Given the description of an element on the screen output the (x, y) to click on. 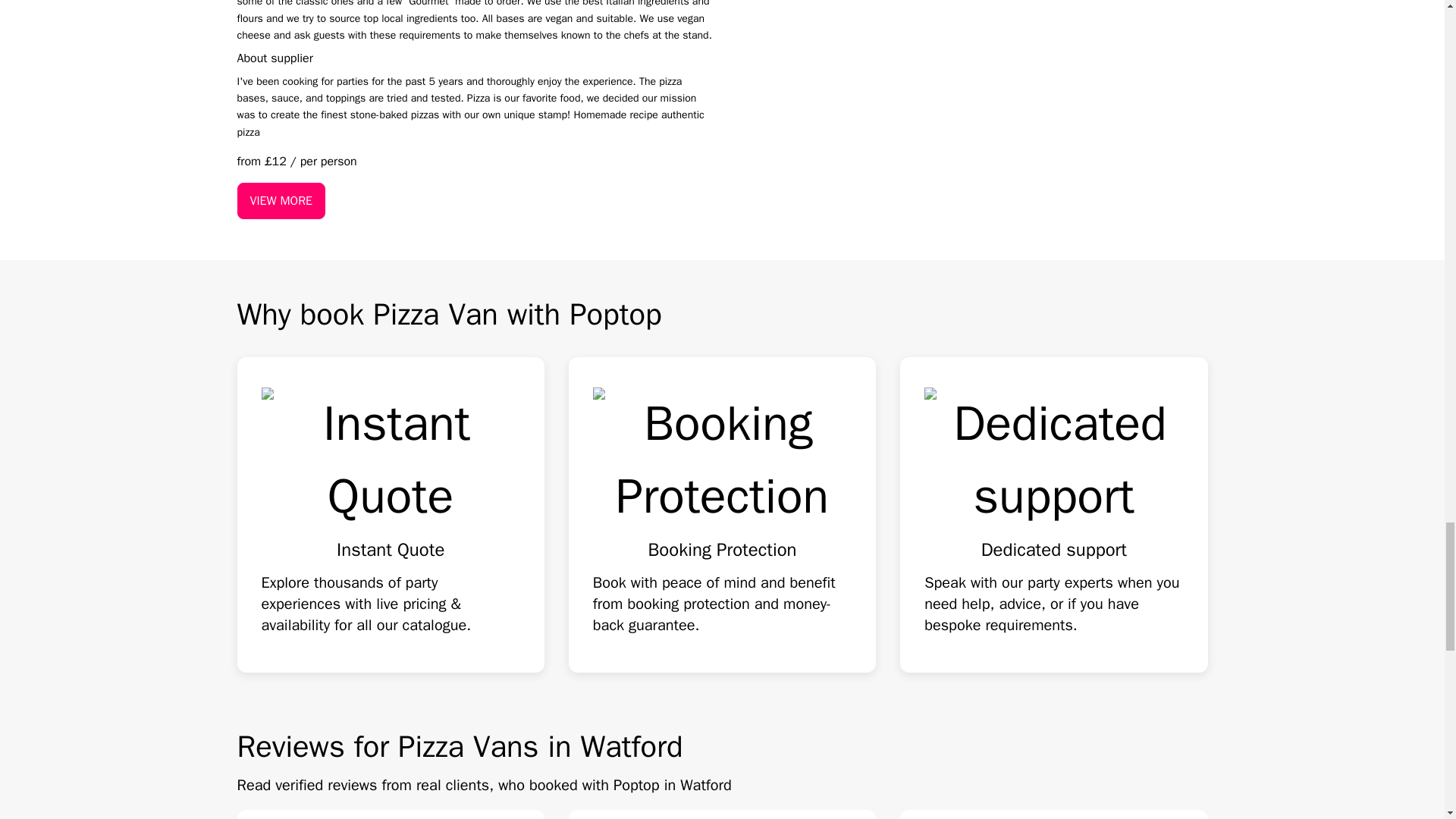
VIEW MORE (279, 200)
